Given the description of an element on the screen output the (x, y) to click on. 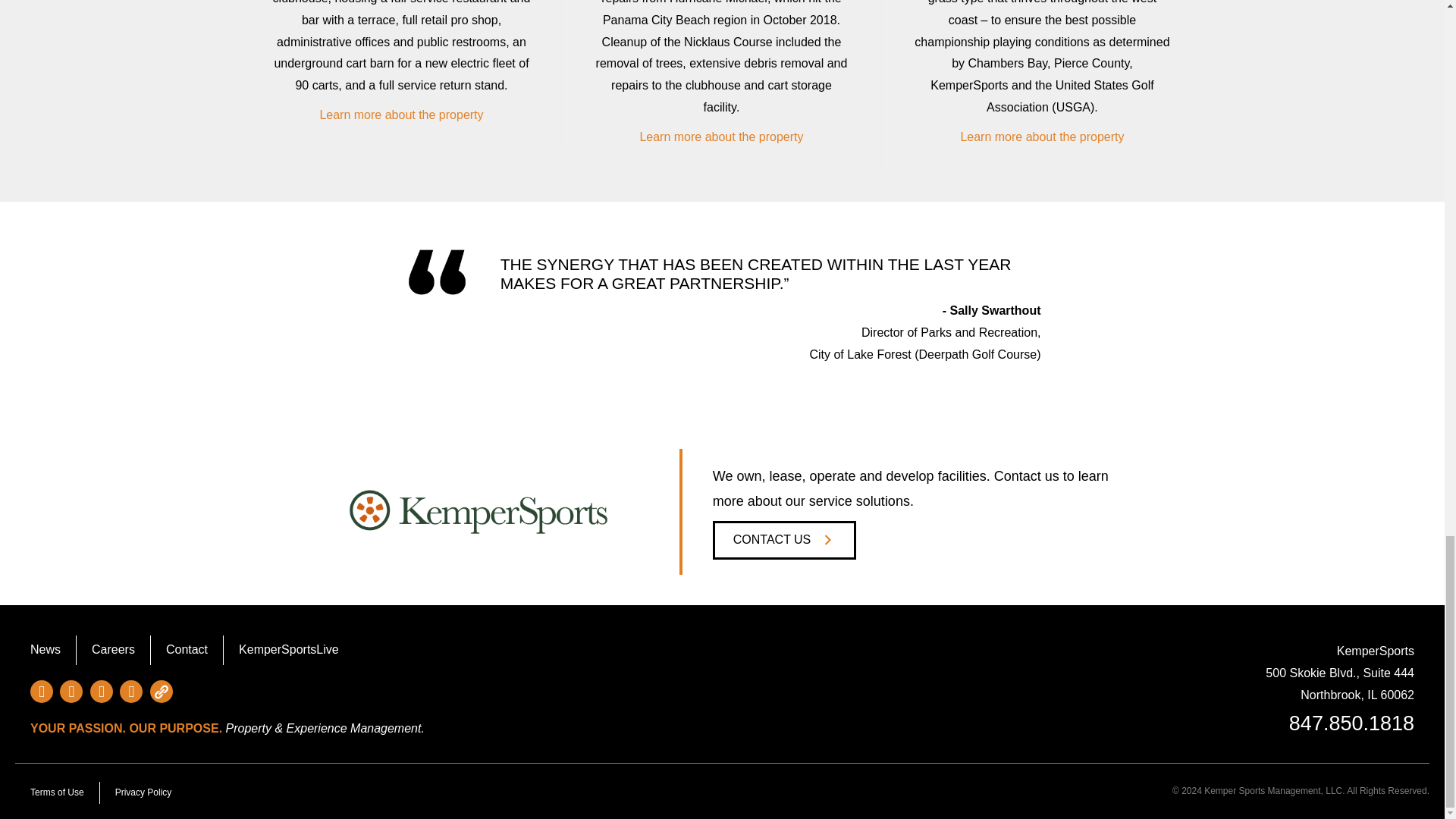
CONTACT US (784, 539)
Contact (186, 650)
KemperSportsLive (288, 650)
Learn more about the property (400, 114)
Learn more about the property (1041, 136)
Careers (113, 650)
Learn more about the property (721, 136)
News (44, 650)
